Given the description of an element on the screen output the (x, y) to click on. 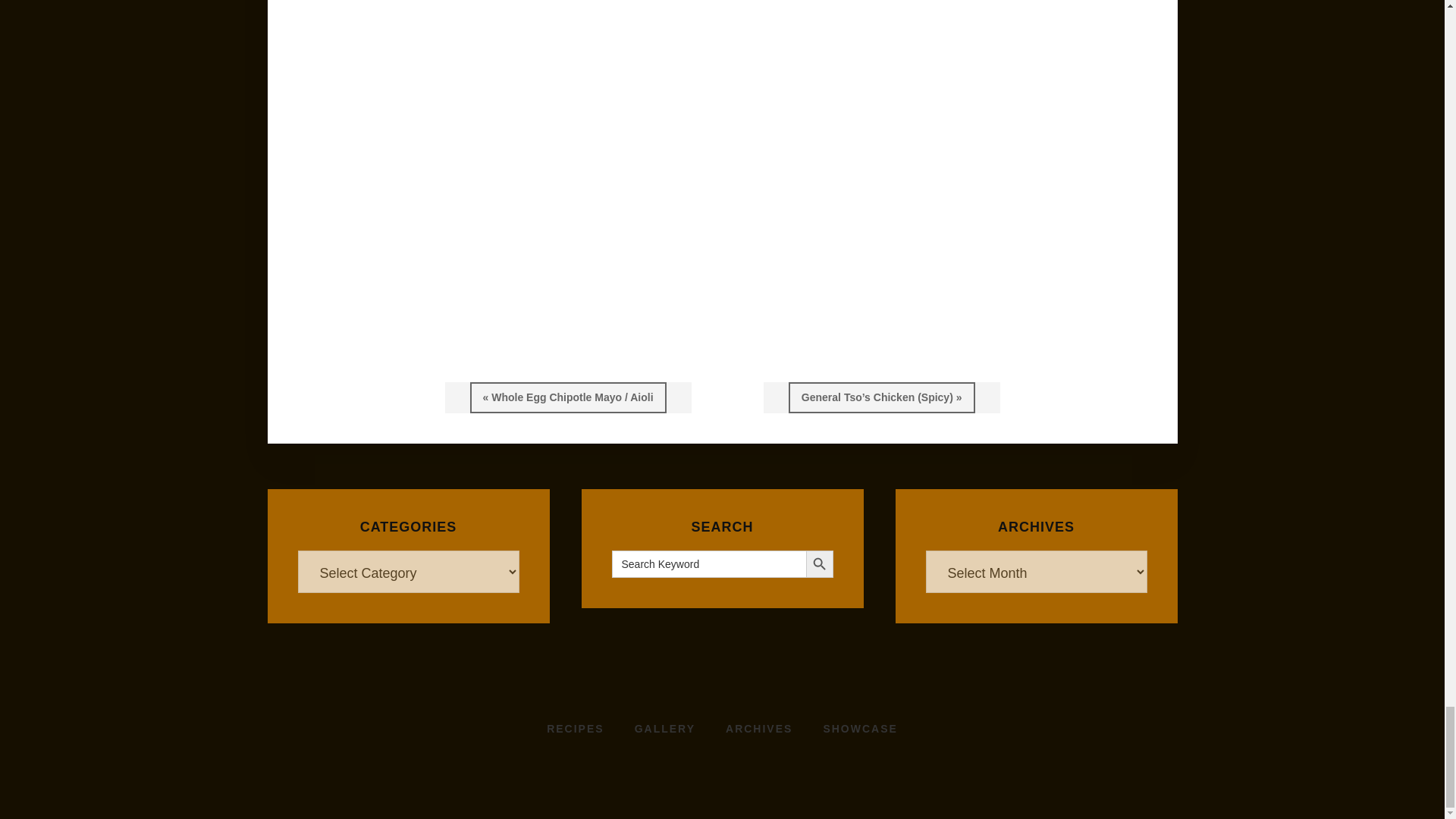
SHOWCASE (860, 728)
RECIPES (574, 728)
GALLERY (665, 728)
ARCHIVES (759, 728)
SEARCH BUTTON (818, 564)
